Given the description of an element on the screen output the (x, y) to click on. 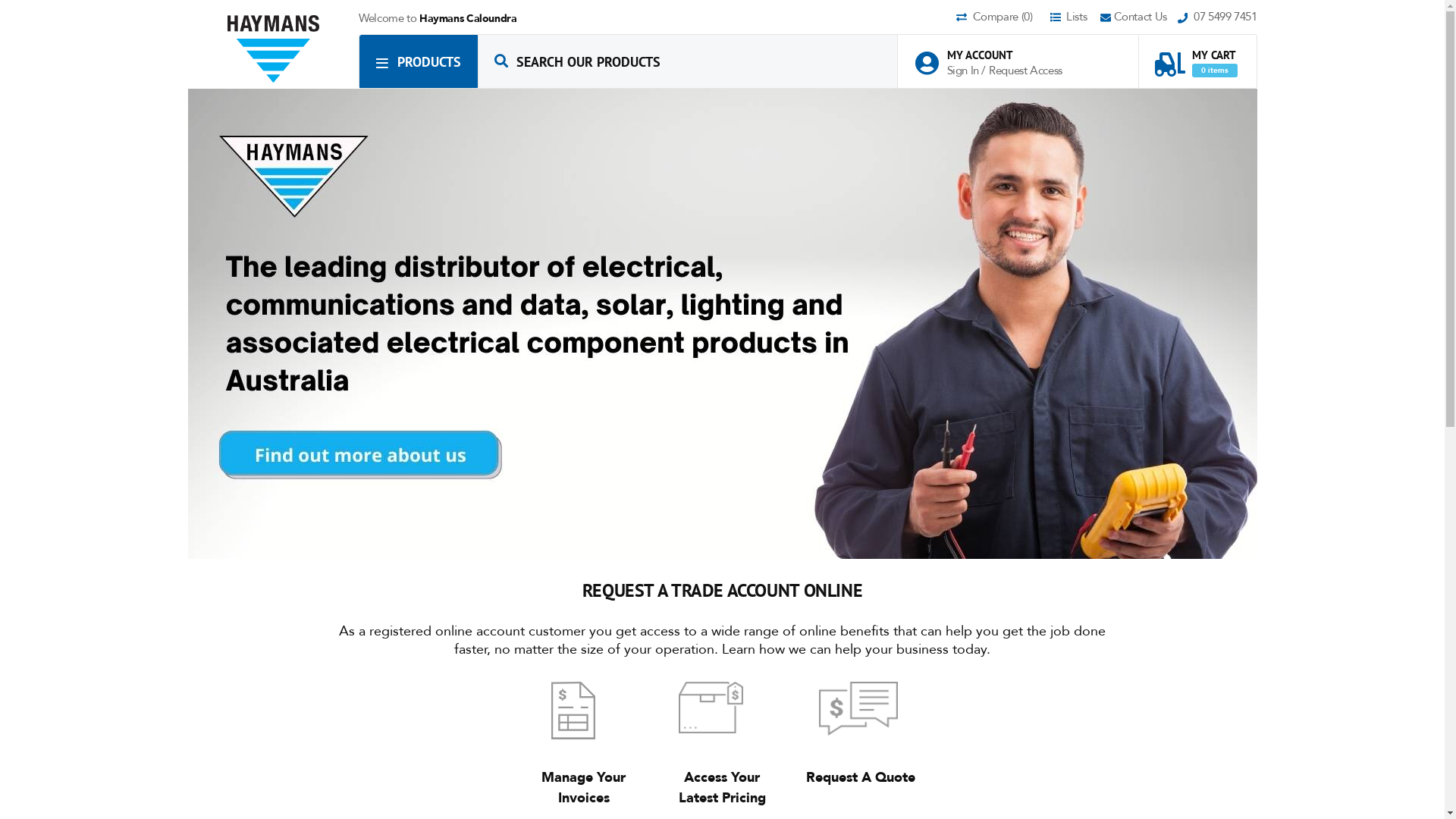
Request Access Element type: text (1025, 70)
MY ACCOUNT Element type: text (995, 54)
Haymans Electrical Element type: hover (273, 49)
Compare 0 Element type: text (1001, 17)
07 5499 7451 Element type: text (1217, 17)
MY CART
0 items Element type: text (1195, 55)
Haymans Electrical Element type: hover (273, 49)
Search Element type: text (501, 60)
Sign In Element type: text (963, 70)
Lists Element type: text (1073, 17)
Contact Us Element type: text (1138, 17)
